Given the description of an element on the screen output the (x, y) to click on. 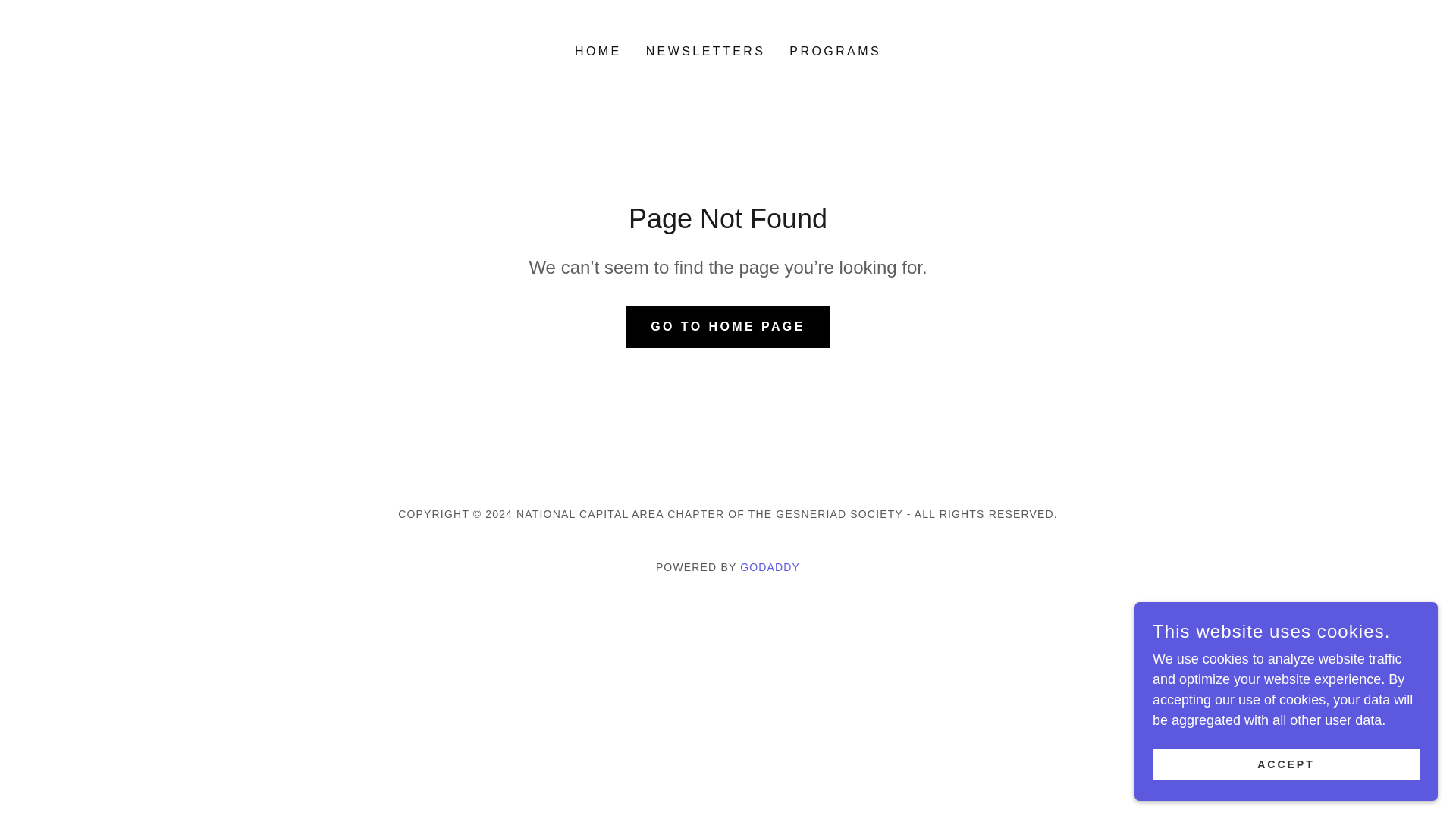
NEWSLETTERS (706, 51)
PROGRAMS (834, 51)
HOME (598, 51)
ACCEPT (1286, 764)
GODADDY (769, 567)
GO TO HOME PAGE (727, 325)
